Given the description of an element on the screen output the (x, y) to click on. 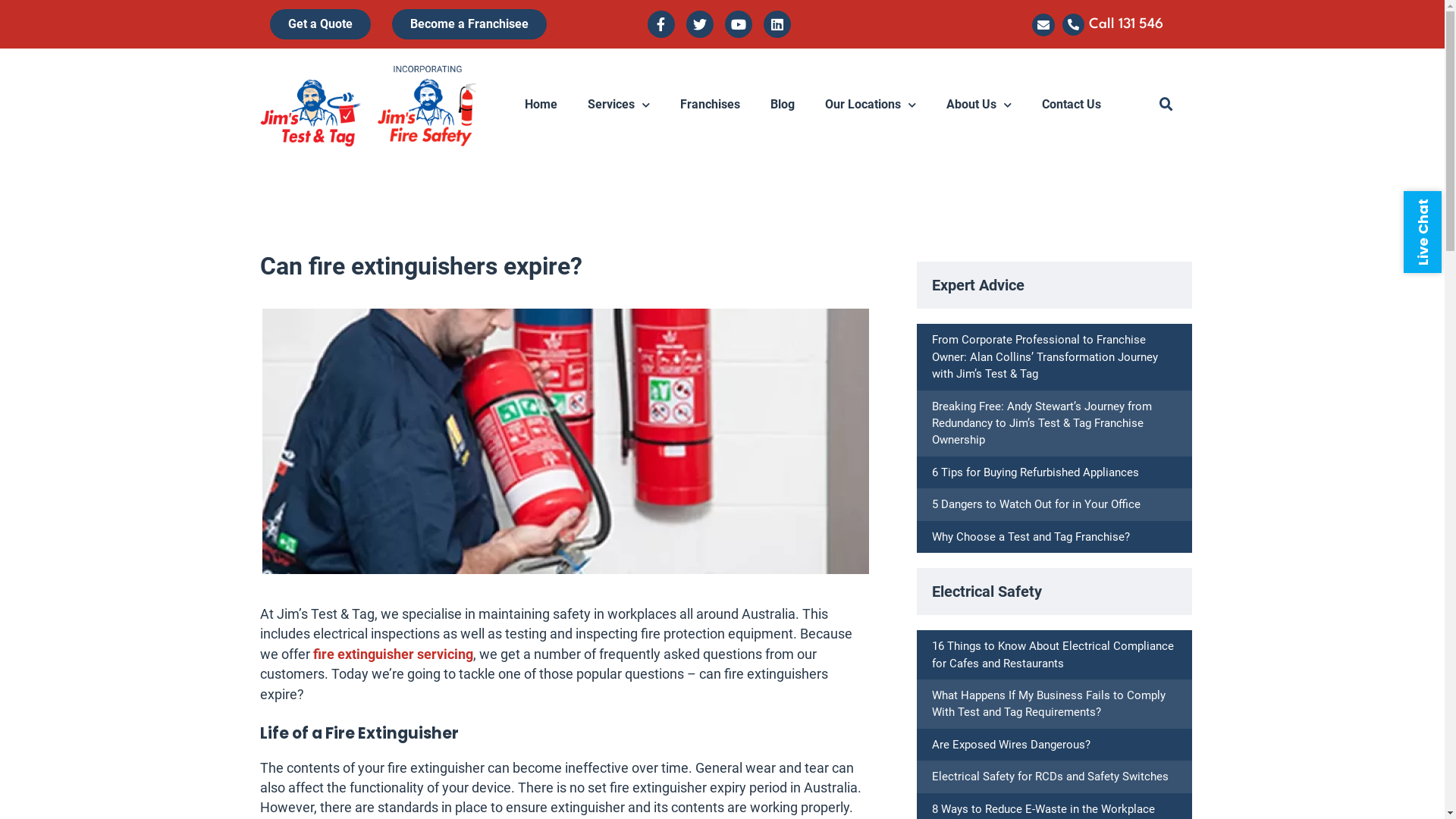
5 Dangers to Watch Out for in Your Office Element type: text (1035, 504)
fire extinguisher servicing Element type: text (392, 654)
6 Tips for Buying Refurbished Appliances Element type: text (1035, 472)
fire-protection-testing Element type: hover (565, 441)
8 Ways to Reduce E-Waste in the Workplace Element type: text (1042, 808)
Call 131 546 Element type: text (1125, 24)
Become a Franchisee Element type: text (469, 24)
Contact Us Element type: text (1071, 104)
Get a Quote Element type: text (319, 24)
Are Exposed Wires Dangerous? Element type: text (1010, 744)
Franchises Element type: text (710, 104)
Blog Element type: text (782, 104)
About Us Element type: text (978, 104)
Services Element type: text (618, 104)
Home Element type: text (540, 104)
Our Locations Element type: text (870, 104)
Electrical Safety for RCDs and Safety Switches Element type: text (1049, 776)
Why Choose a Test and Tag Franchise? Element type: text (1030, 536)
